Given the description of an element on the screen output the (x, y) to click on. 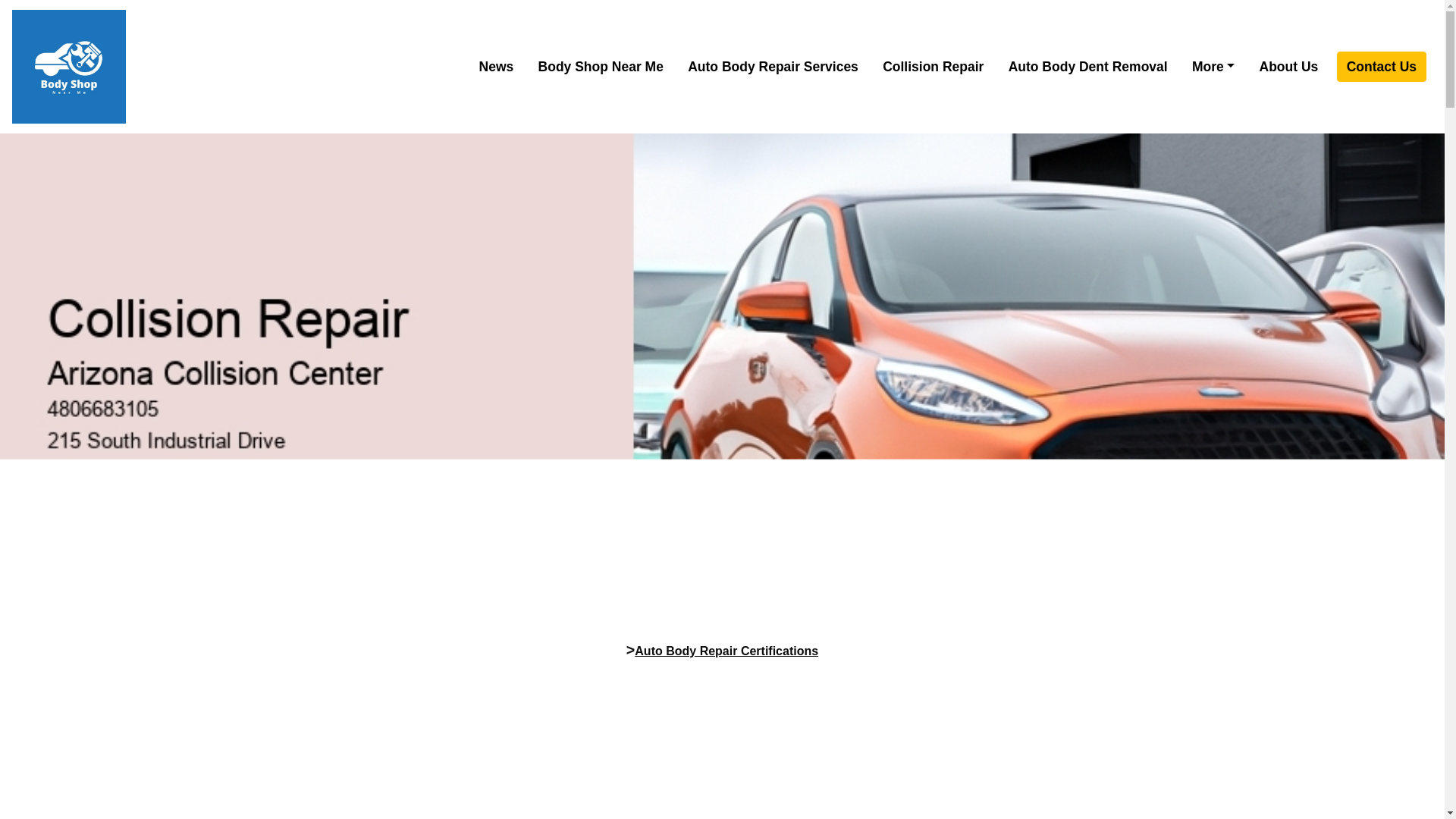
Auto Body Repair Certifications (726, 650)
About Us (1288, 66)
More (1213, 66)
Contact Us (1381, 66)
Auto Body Dent Removal (1088, 66)
Auto Body Repair Services (772, 66)
Body Shop Near Me (600, 66)
Collision Repair (933, 66)
News (496, 66)
